Given the description of an element on the screen output the (x, y) to click on. 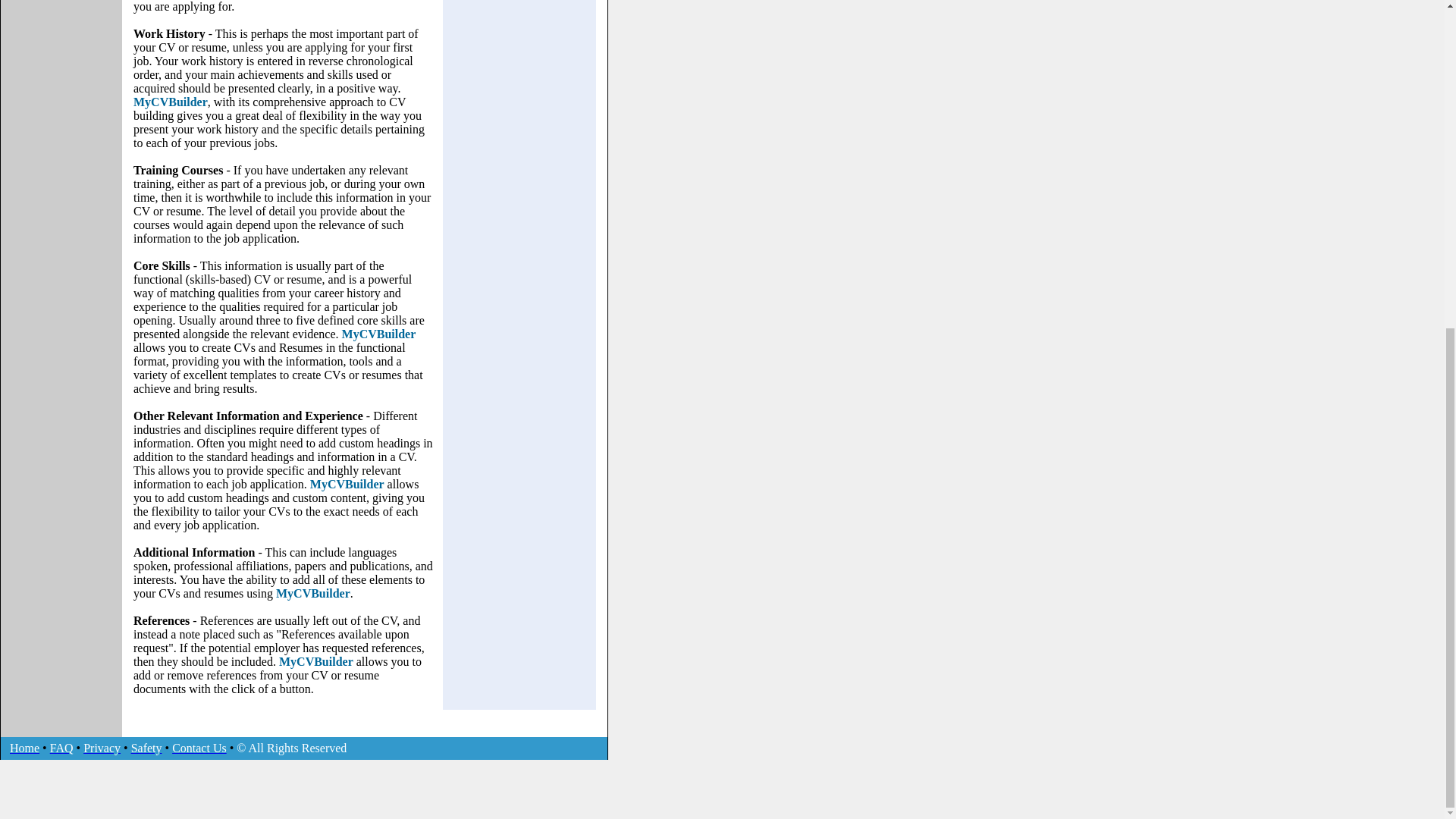
FAQ (61, 748)
Contact Us (199, 748)
Safety (146, 748)
Privacy (101, 748)
Home (24, 748)
